Given the description of an element on the screen output the (x, y) to click on. 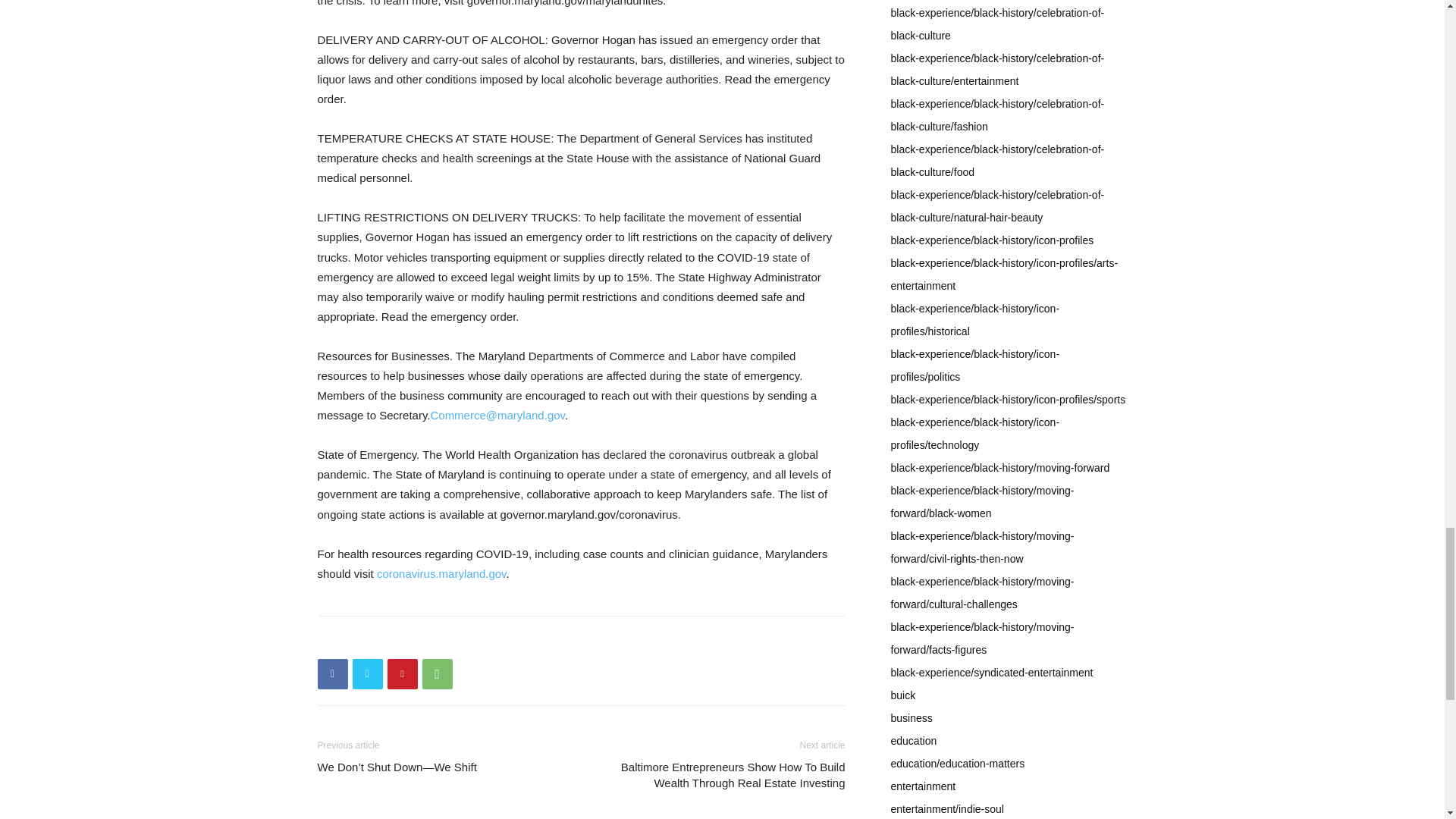
Pinterest (401, 674)
Twitter (366, 674)
Facebook (332, 674)
coronavirus.maryland.gov (441, 573)
bottomFacebookLike (430, 640)
WhatsApp (436, 674)
